Given the description of an element on the screen output the (x, y) to click on. 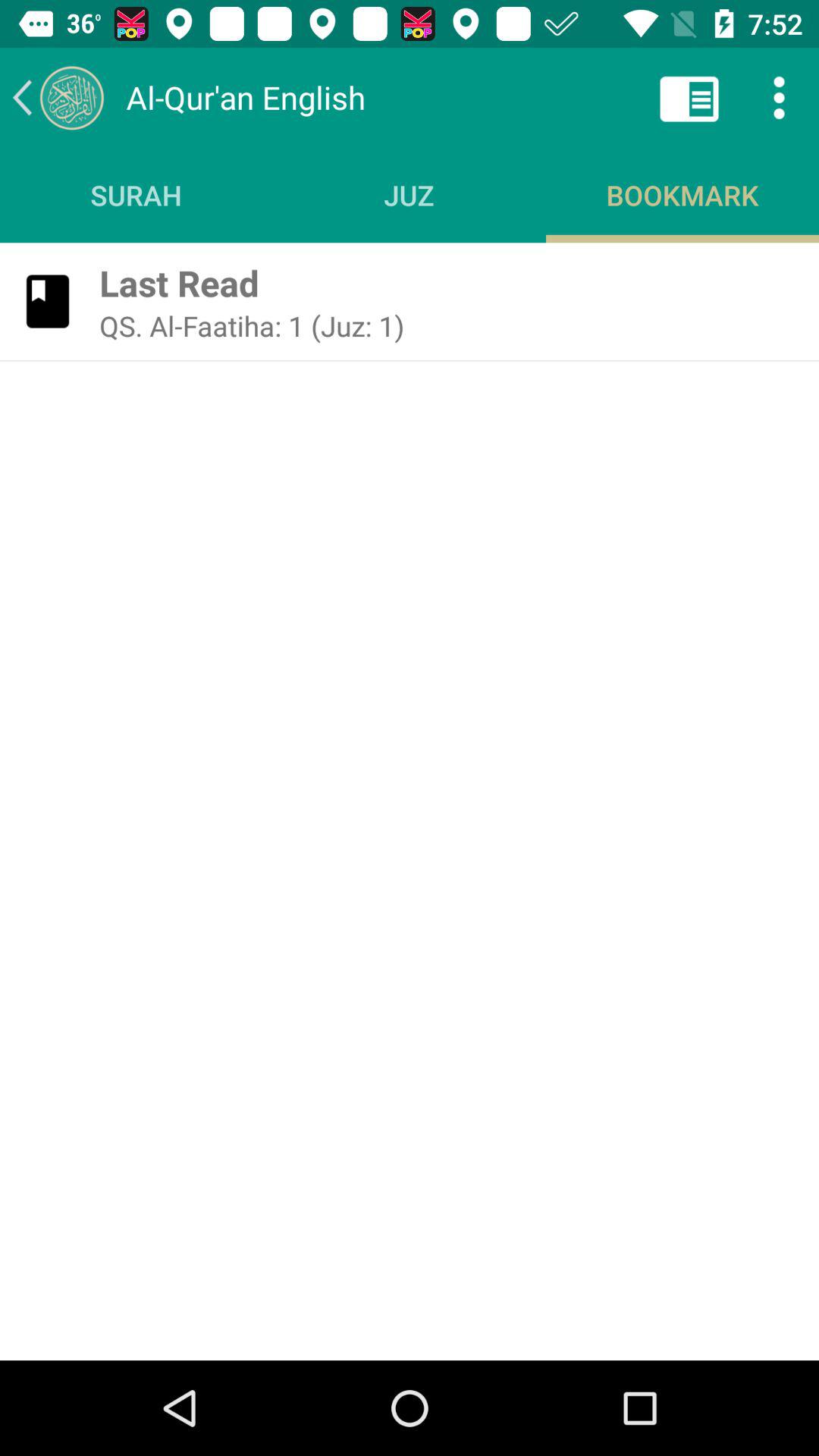
go back (58, 97)
